Given the description of an element on the screen output the (x, y) to click on. 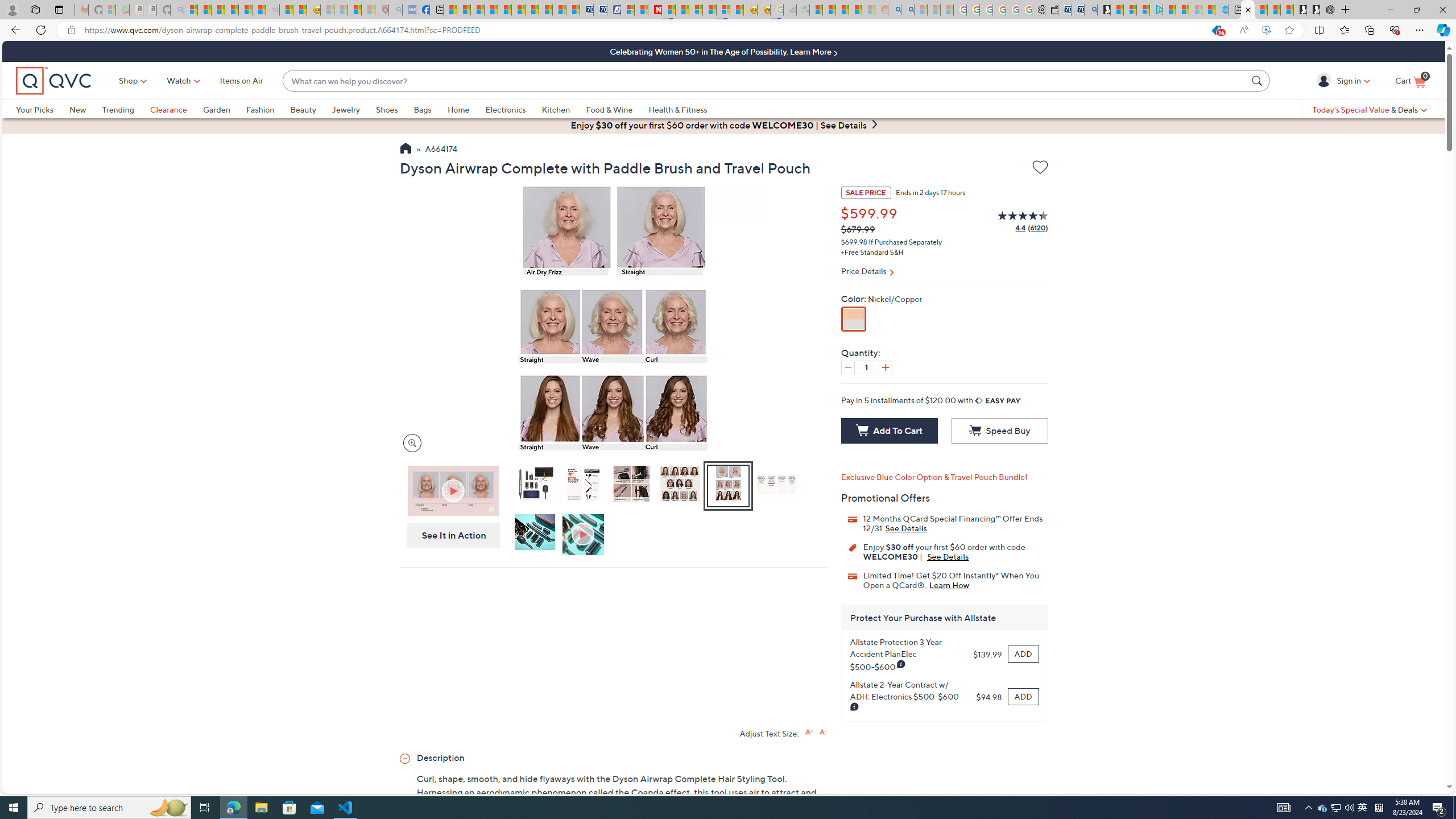
Easy Pay (998, 400)
Fashion (260, 109)
Speed Buy (999, 430)
You have the best price! (1216, 29)
